Given the description of an element on the screen output the (x, y) to click on. 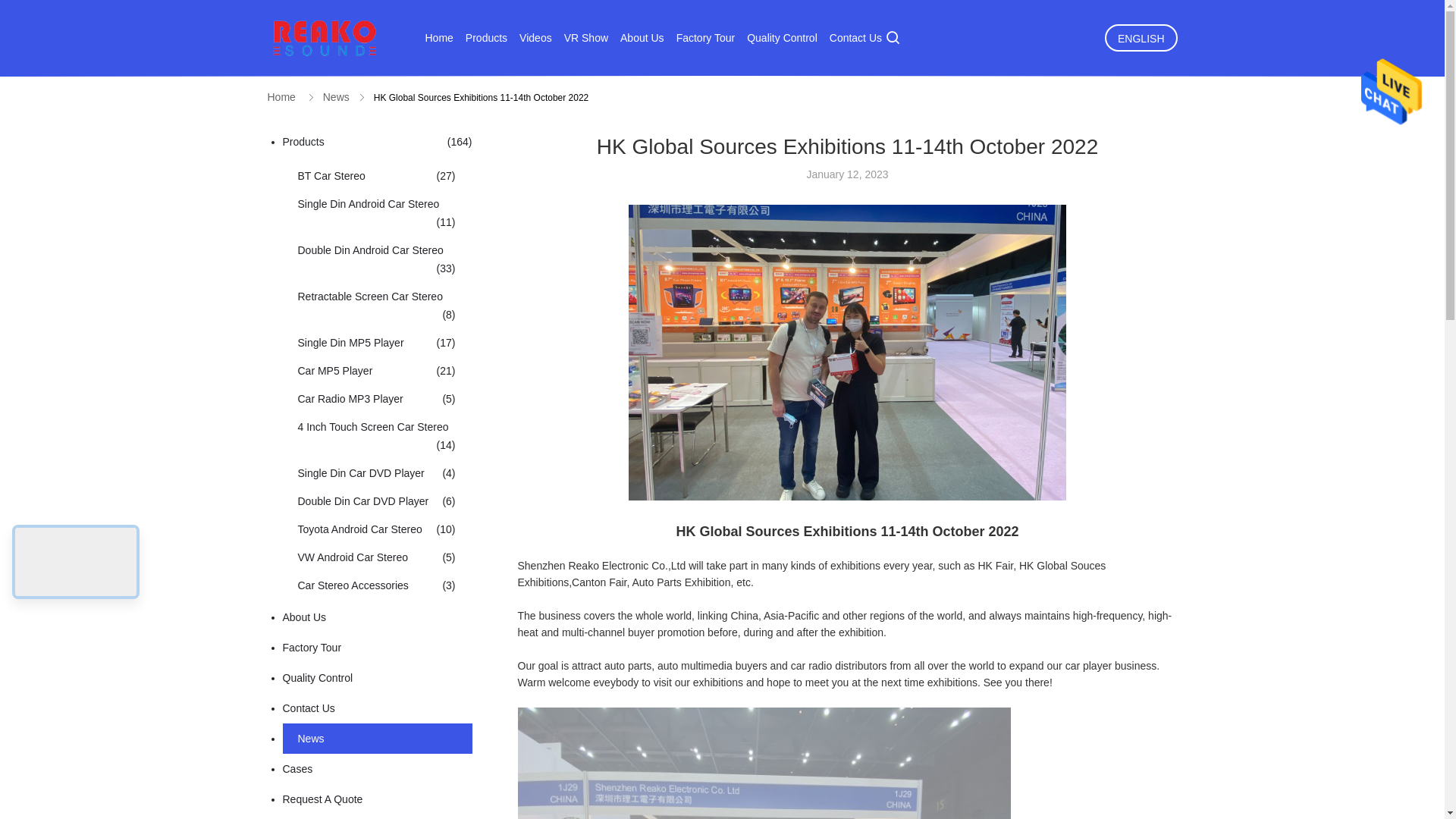
Factory Tour (706, 37)
About Us (641, 37)
VR Show (586, 37)
Quality Control (781, 37)
Videos (535, 37)
Products (485, 37)
News (336, 96)
Home (280, 96)
Home (438, 37)
Contact Us (855, 37)
